Given the description of an element on the screen output the (x, y) to click on. 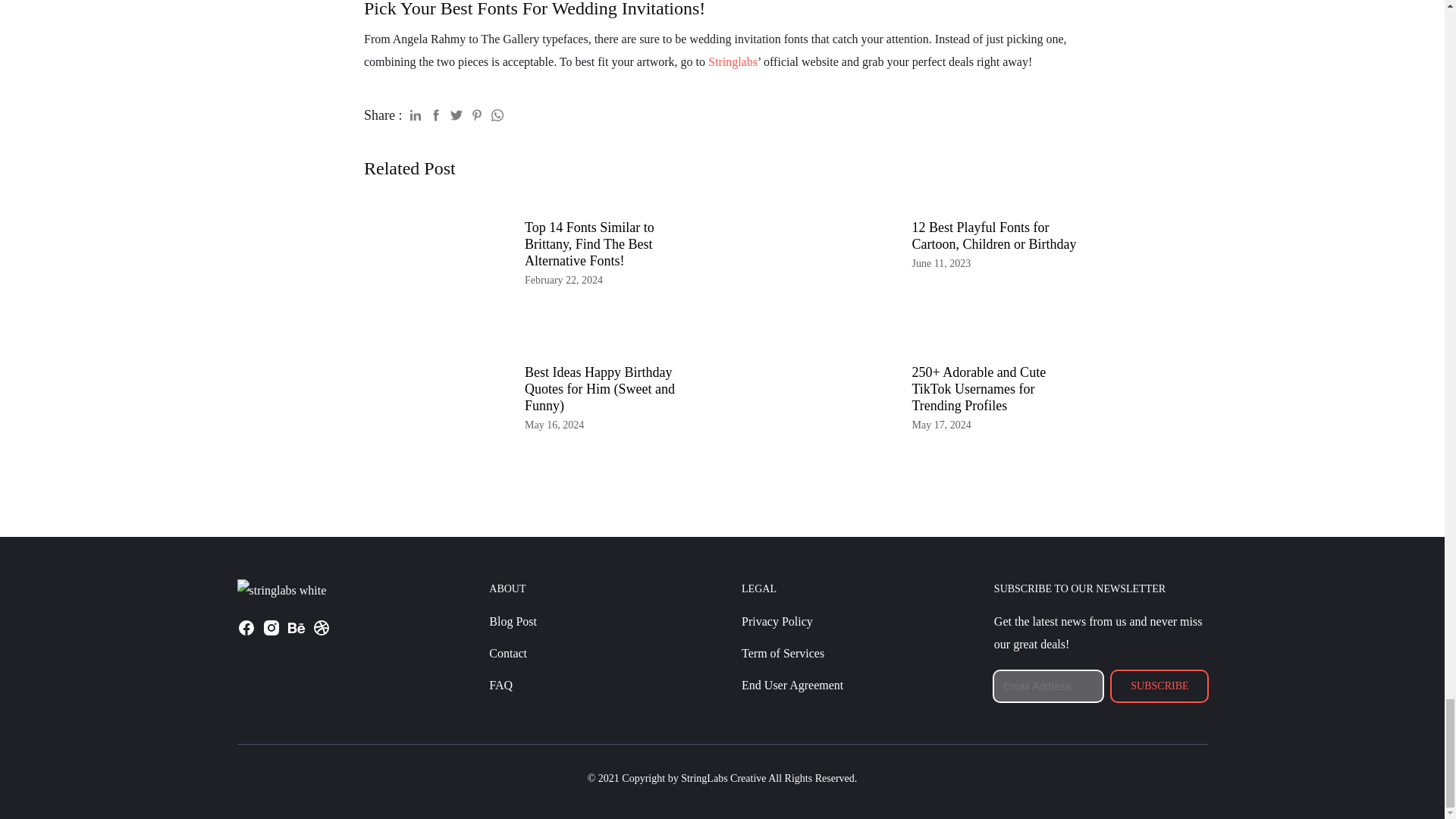
12 Best Playful Fonts for Cartoon, Children or Birthday (993, 235)
Share to Linkedin (415, 112)
Tweet it! (456, 112)
Share to Pinterest (476, 112)
Share to Facebook (435, 112)
12 Best Playful Fonts for Cartoon, Children or Birthday (818, 269)
Share to Whatsapp Contact (496, 112)
